Given the description of an element on the screen output the (x, y) to click on. 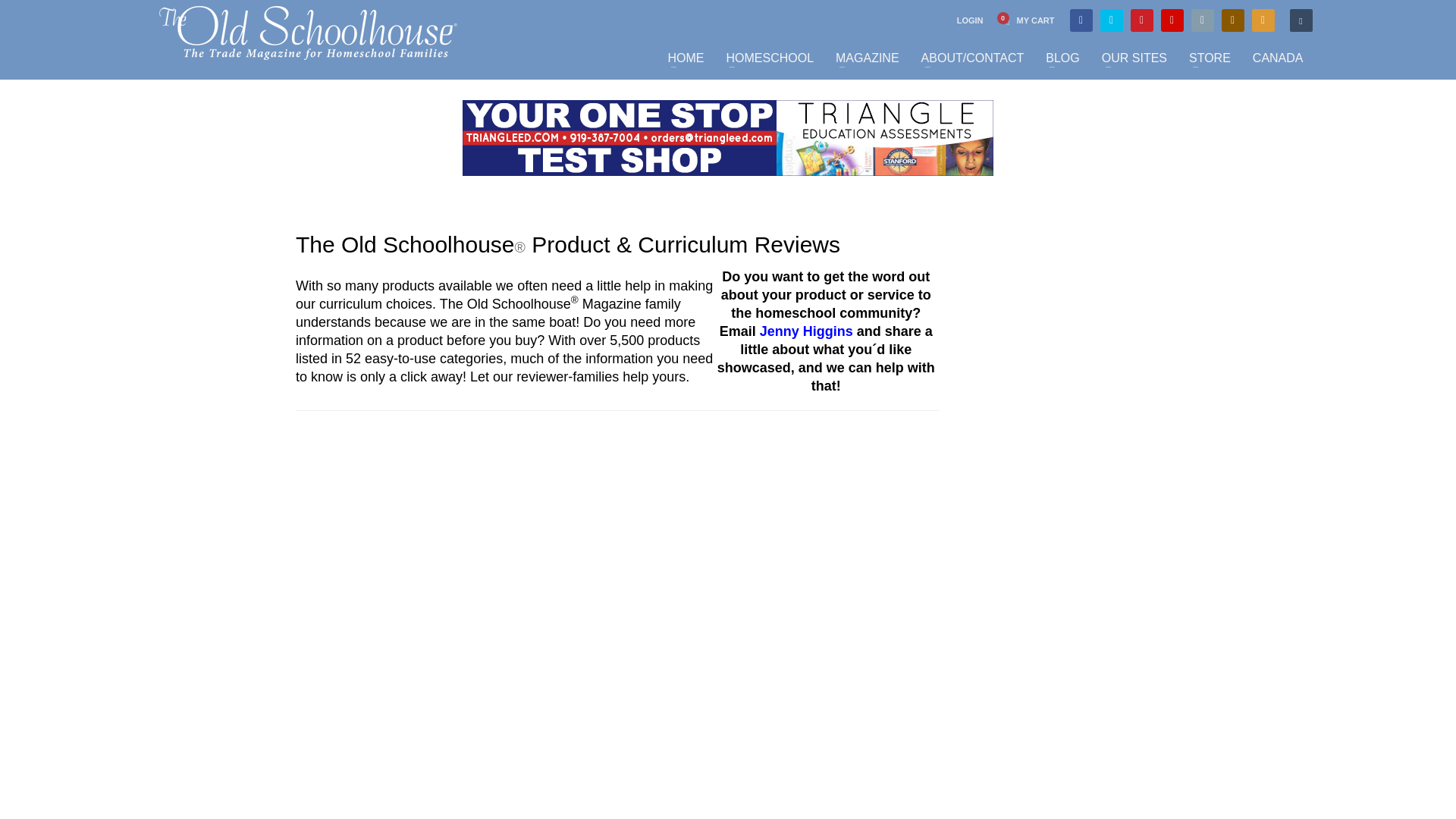
LOGIN (970, 20)
Facebook (1081, 20)
Instagram (1232, 20)
Pinterest (1142, 20)
RSS Feeds (1263, 20)
HOME (685, 57)
The Family Education Magazine (307, 32)
iTunes (1202, 20)
HOMESCHOOL (769, 57)
YouTube (1171, 20)
View your shopping cart (1025, 20)
Twitter (1111, 20)
MY CART (1025, 20)
